Given the description of an element on the screen output the (x, y) to click on. 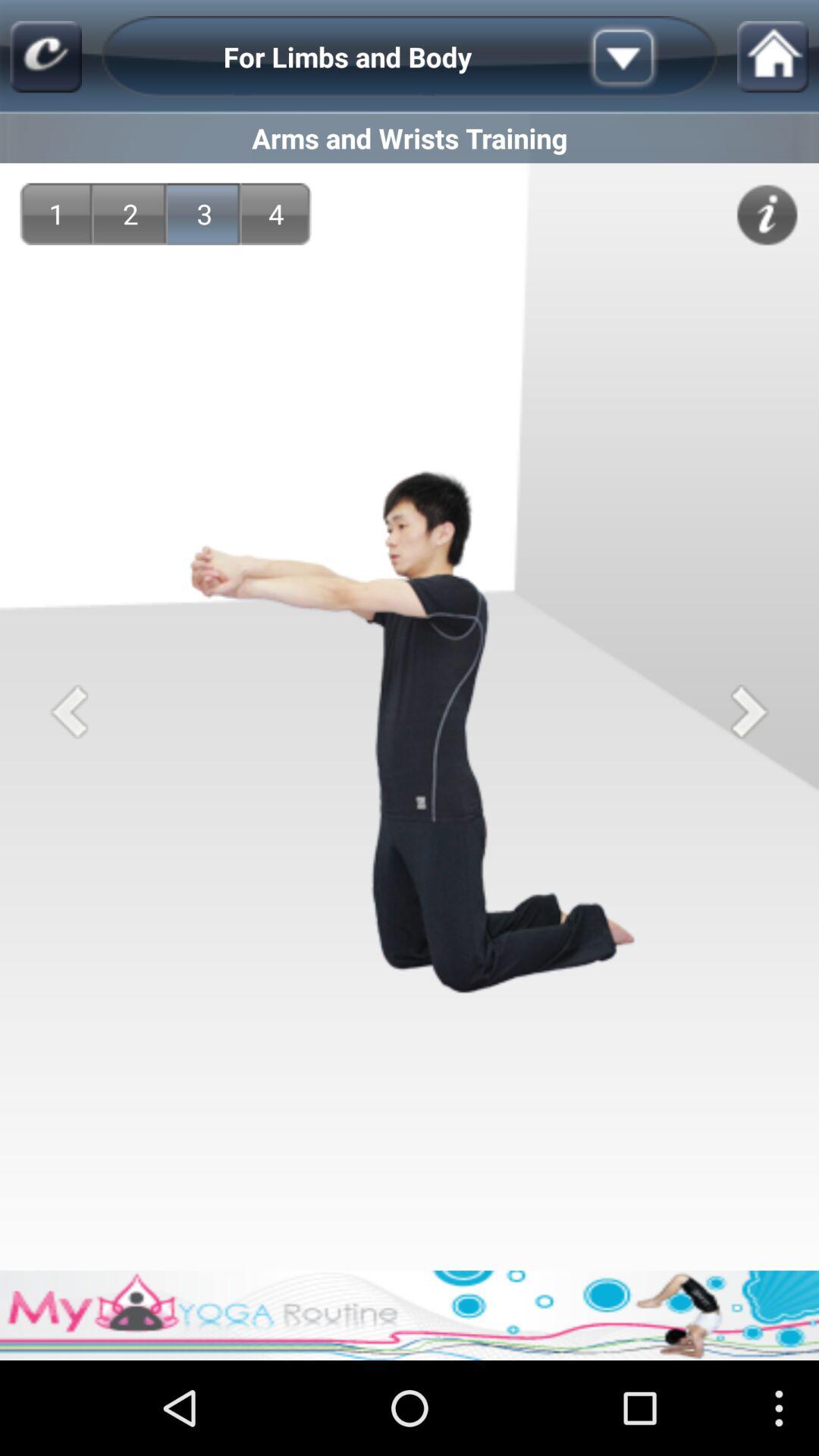
advertisement (409, 1315)
